Given the description of an element on the screen output the (x, y) to click on. 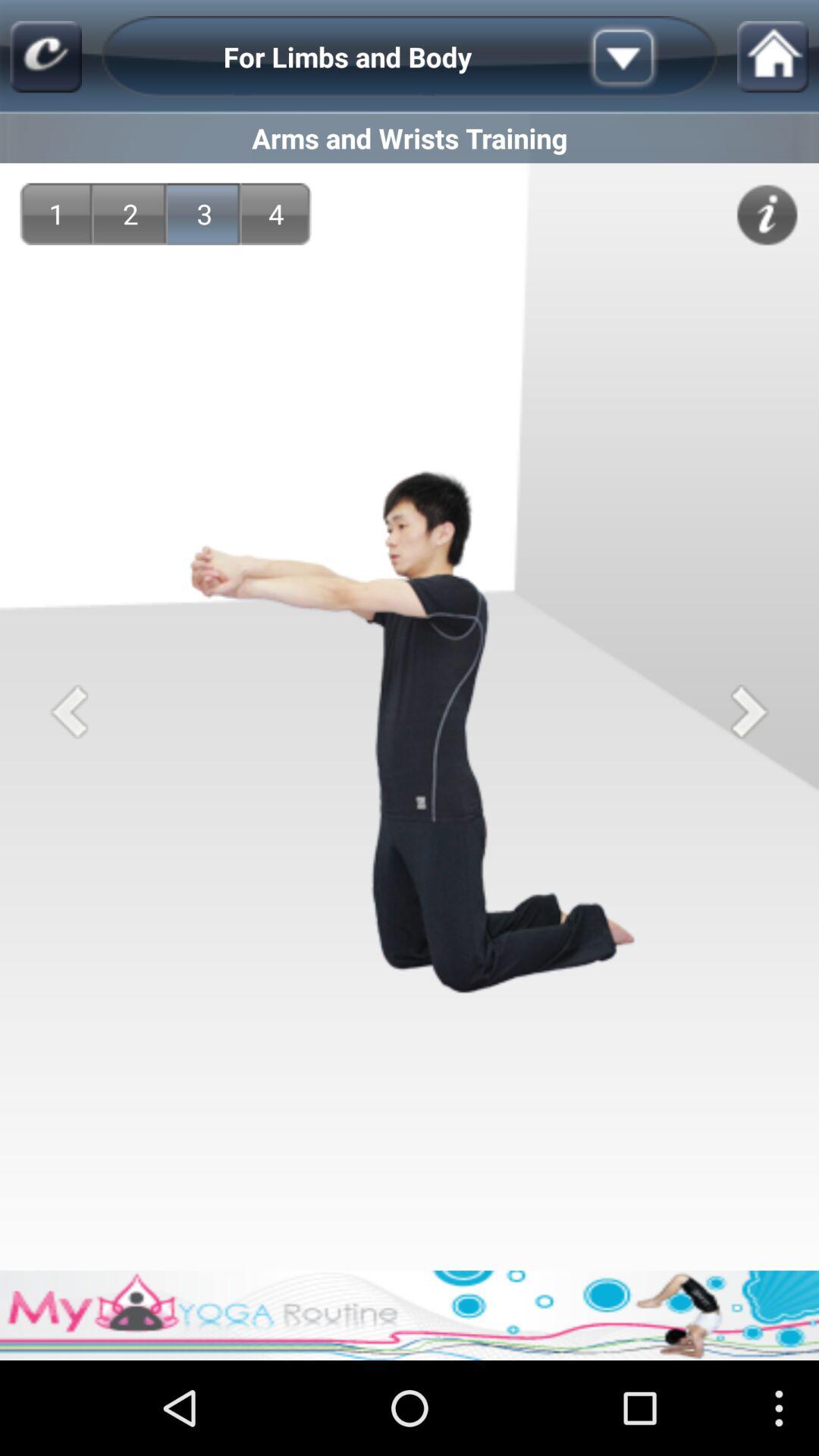
advertisement (409, 1315)
